Given the description of an element on the screen output the (x, y) to click on. 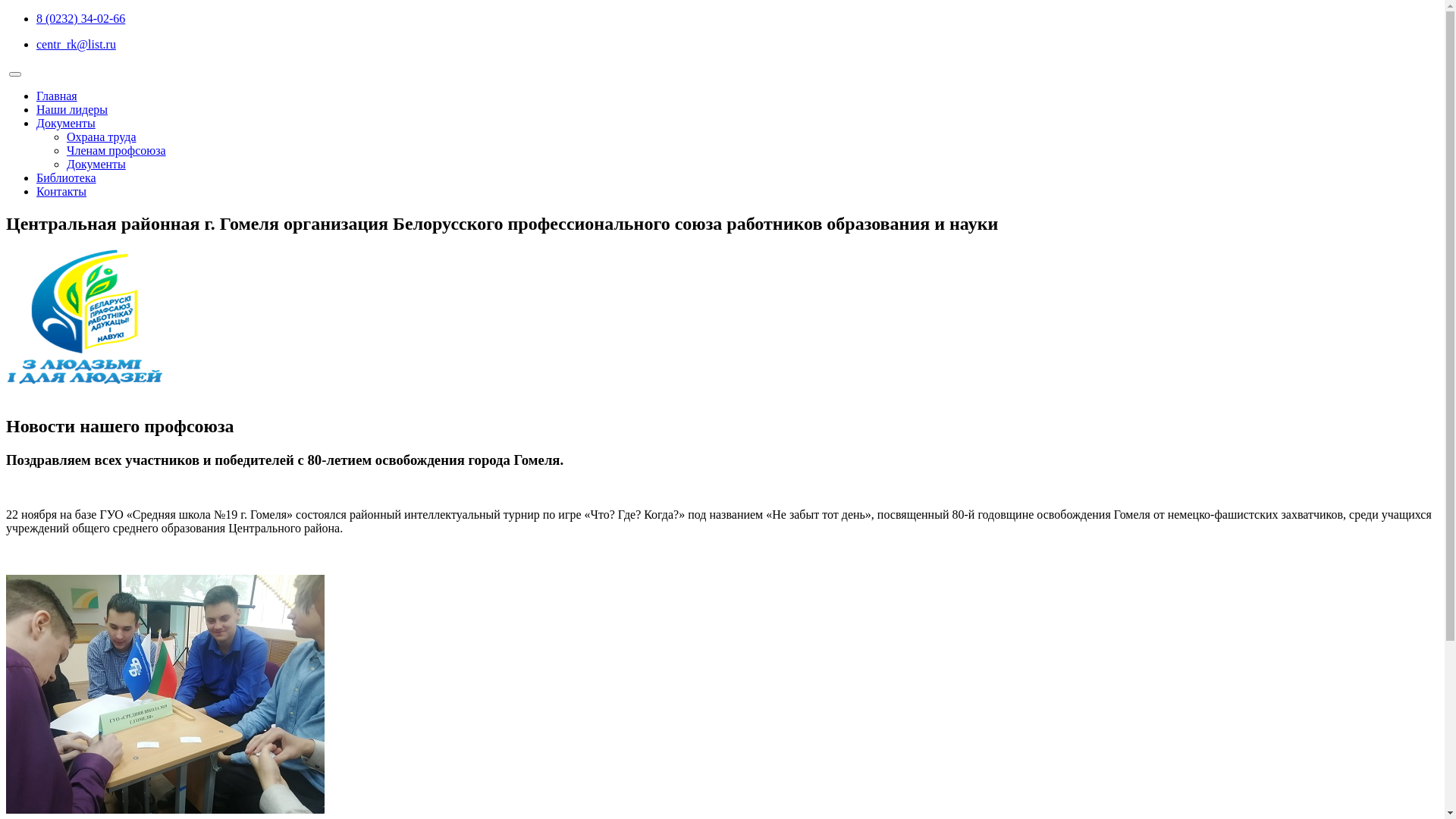
centr_rk@list.ru Element type: text (76, 43)
8 (0232) 34-02-66 Element type: text (80, 18)
